Given the description of an element on the screen output the (x, y) to click on. 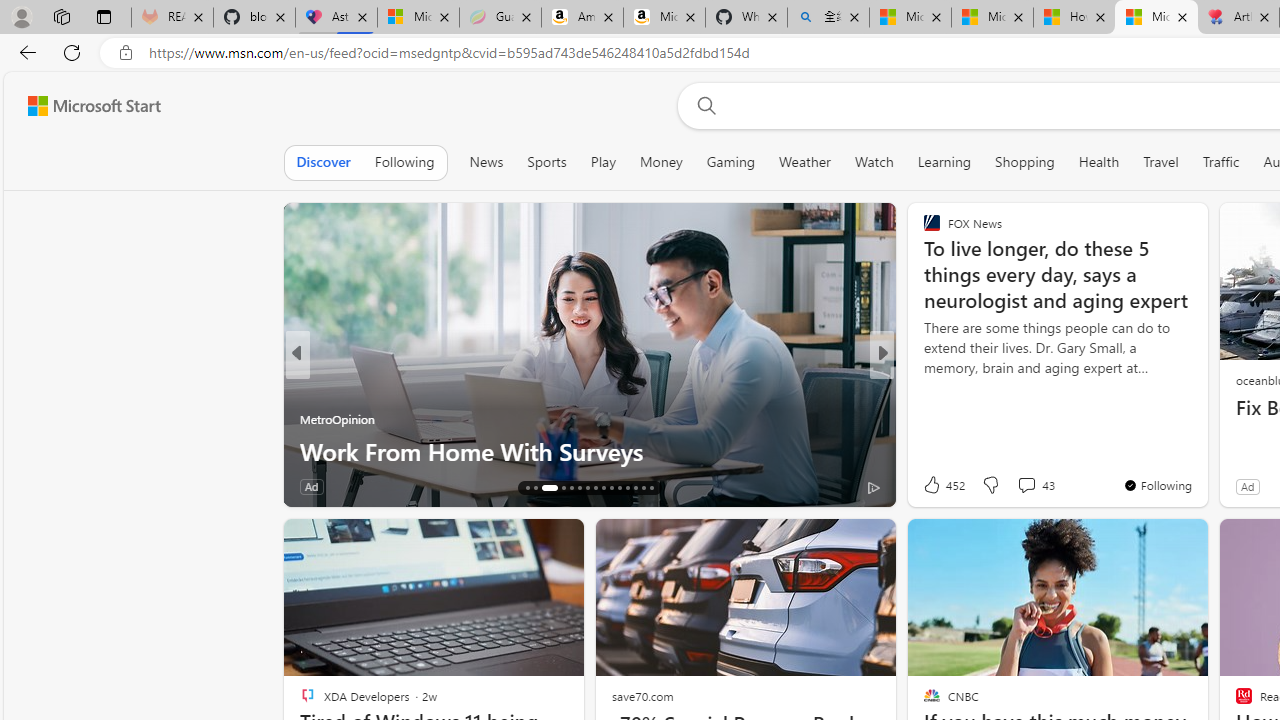
Ad Choice (264, 486)
Shopping (1025, 161)
View comments 4 Comment (1026, 486)
View comments 4 Comment (1019, 485)
View comments 67 Comment (1019, 485)
View comments 89 Comment (404, 485)
72 Like (934, 486)
View comments 7 Comment (1019, 485)
View comments 197 Comment (1032, 486)
Money (660, 161)
Discover (323, 162)
AutomationID: tab-25 (610, 487)
AutomationID: tab-17 (535, 487)
